Given the description of an element on the screen output the (x, y) to click on. 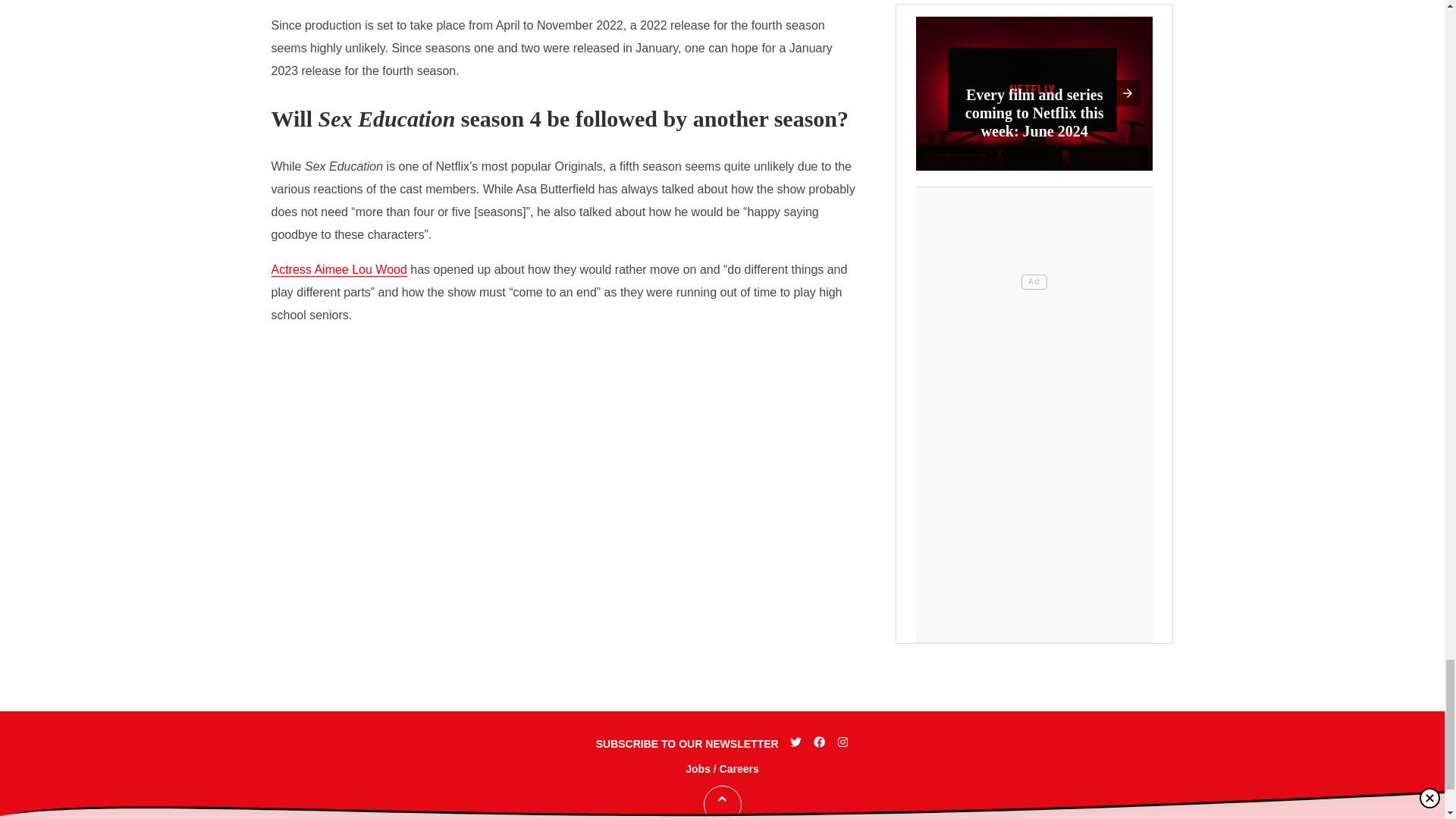
Actress Aimee Lou Wood (338, 269)
